Given the description of an element on the screen output the (x, y) to click on. 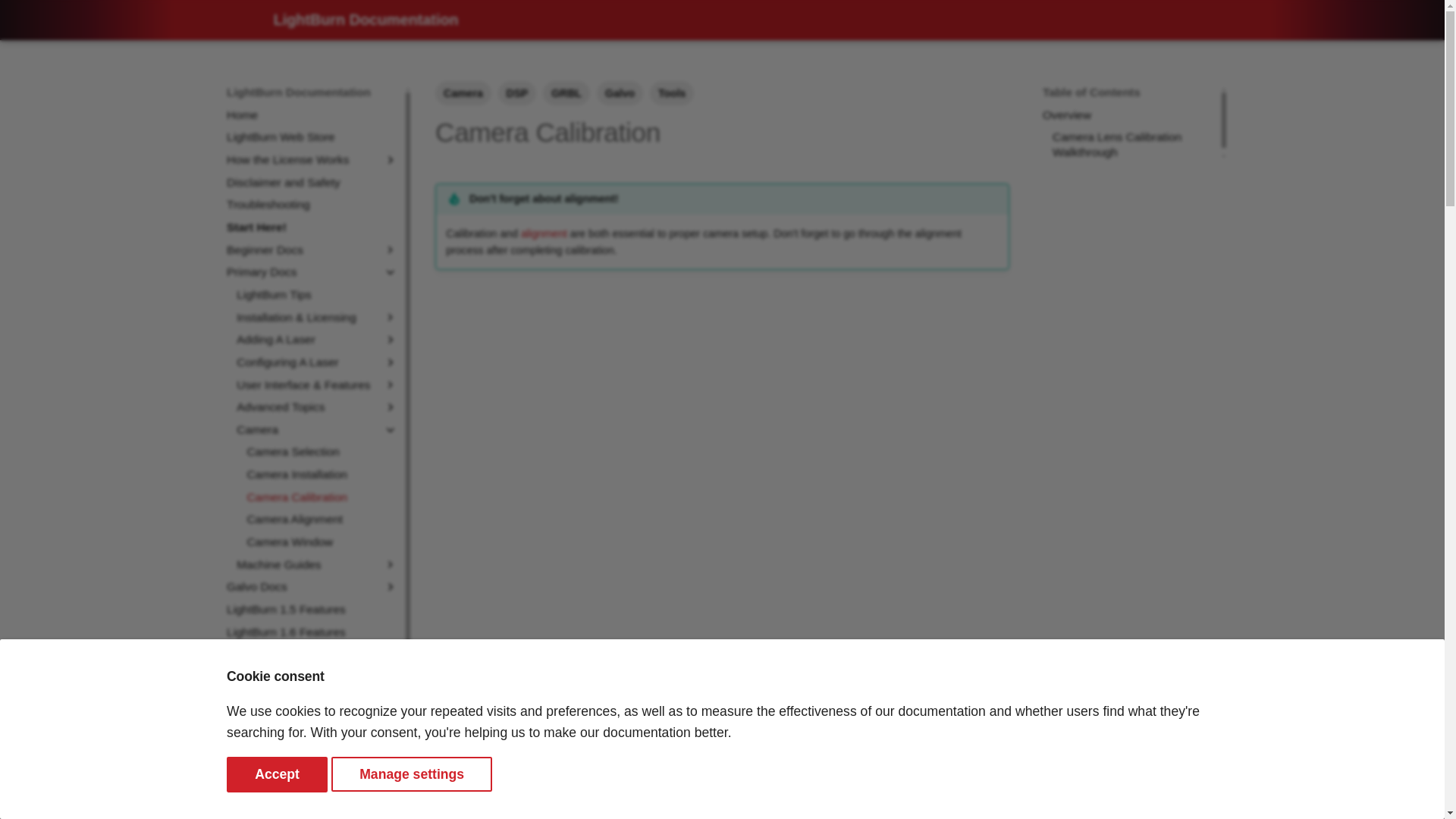
Camera (305, 429)
Camera Selection (321, 451)
LightBurn 1.6 Features (312, 631)
Troubleshooting (312, 204)
Camera (463, 92)
Camera Lens Calibration Walkthrough (1132, 144)
DSP (517, 92)
LightBurn Tips (316, 294)
Adding A Laser (316, 339)
LightBurn Web Store (312, 136)
Camera Calibration (321, 497)
alignment (544, 233)
Galvo (619, 92)
Advanced Topics (316, 406)
